Given the description of an element on the screen output the (x, y) to click on. 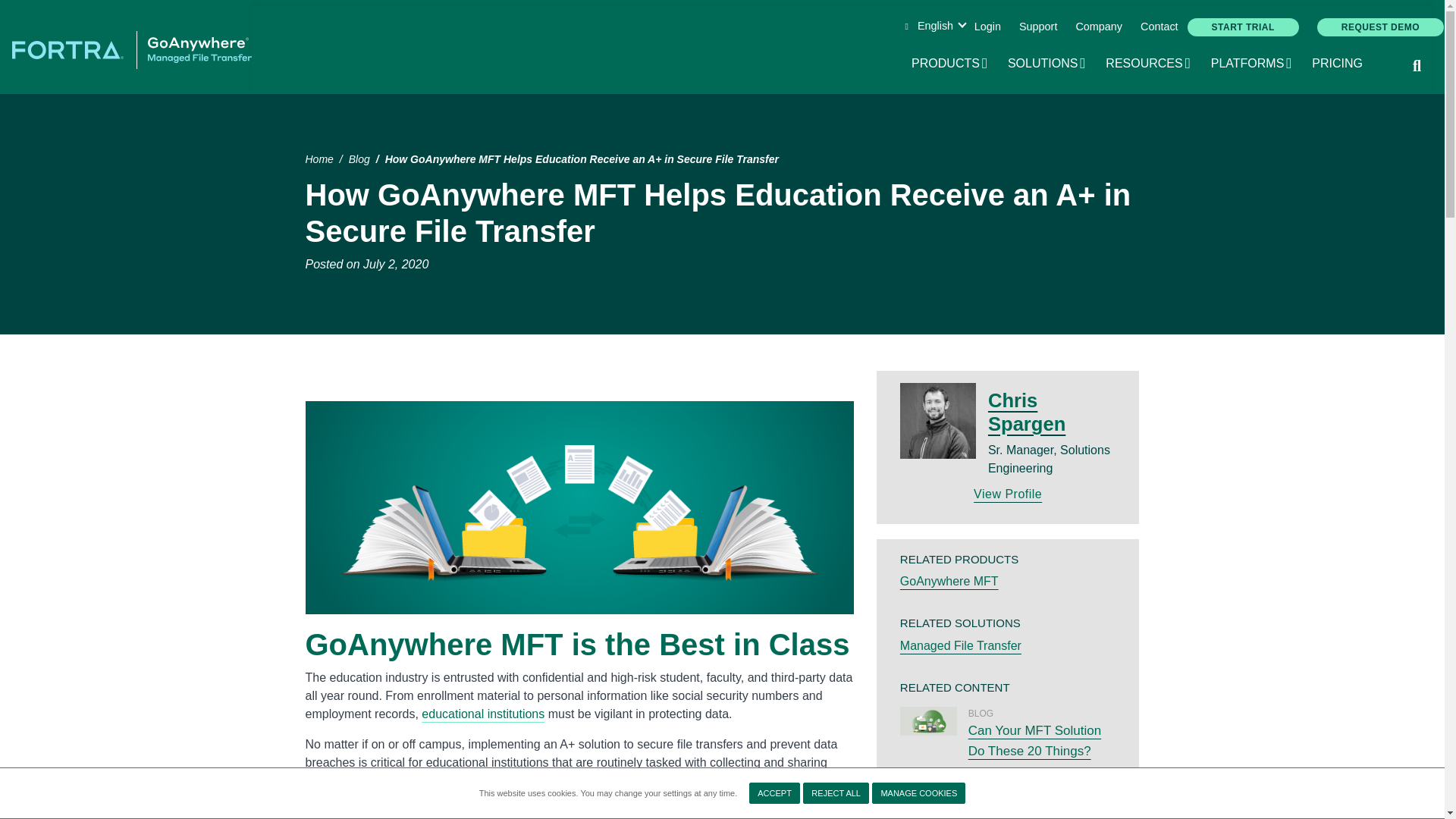
GoAnywhere MFT (430, 810)
ACCEPT (774, 793)
START TRIAL (1148, 63)
Support (1243, 27)
Company (1037, 27)
Contact (1098, 27)
About GoAnywhere (1159, 27)
MANAGE COOKIES (1098, 27)
Skip to main content (918, 793)
